Given the description of an element on the screen output the (x, y) to click on. 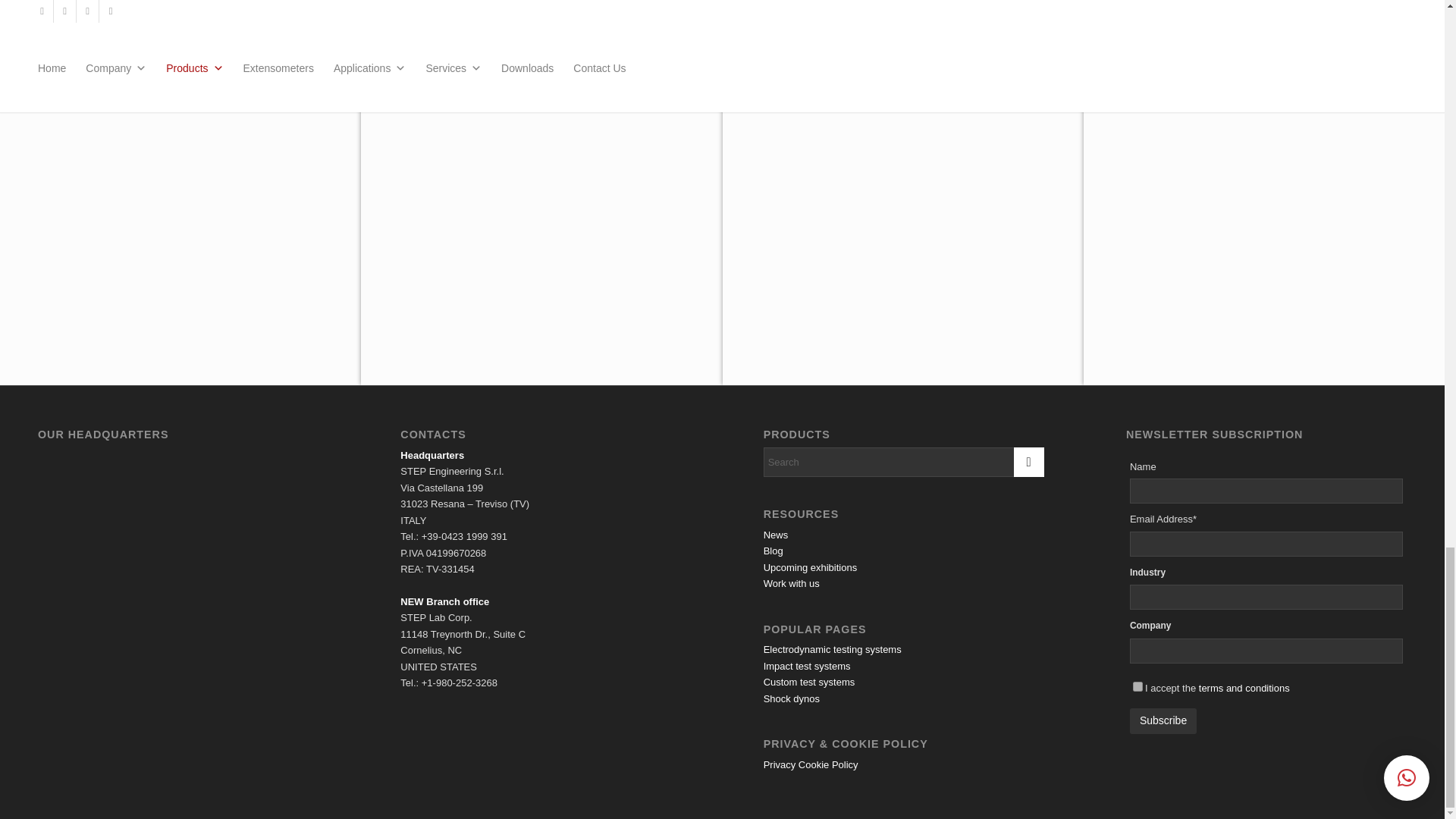
on (1137, 686)
Click to start search (1028, 461)
Subscribe (1162, 720)
